Given the description of an element on the screen output the (x, y) to click on. 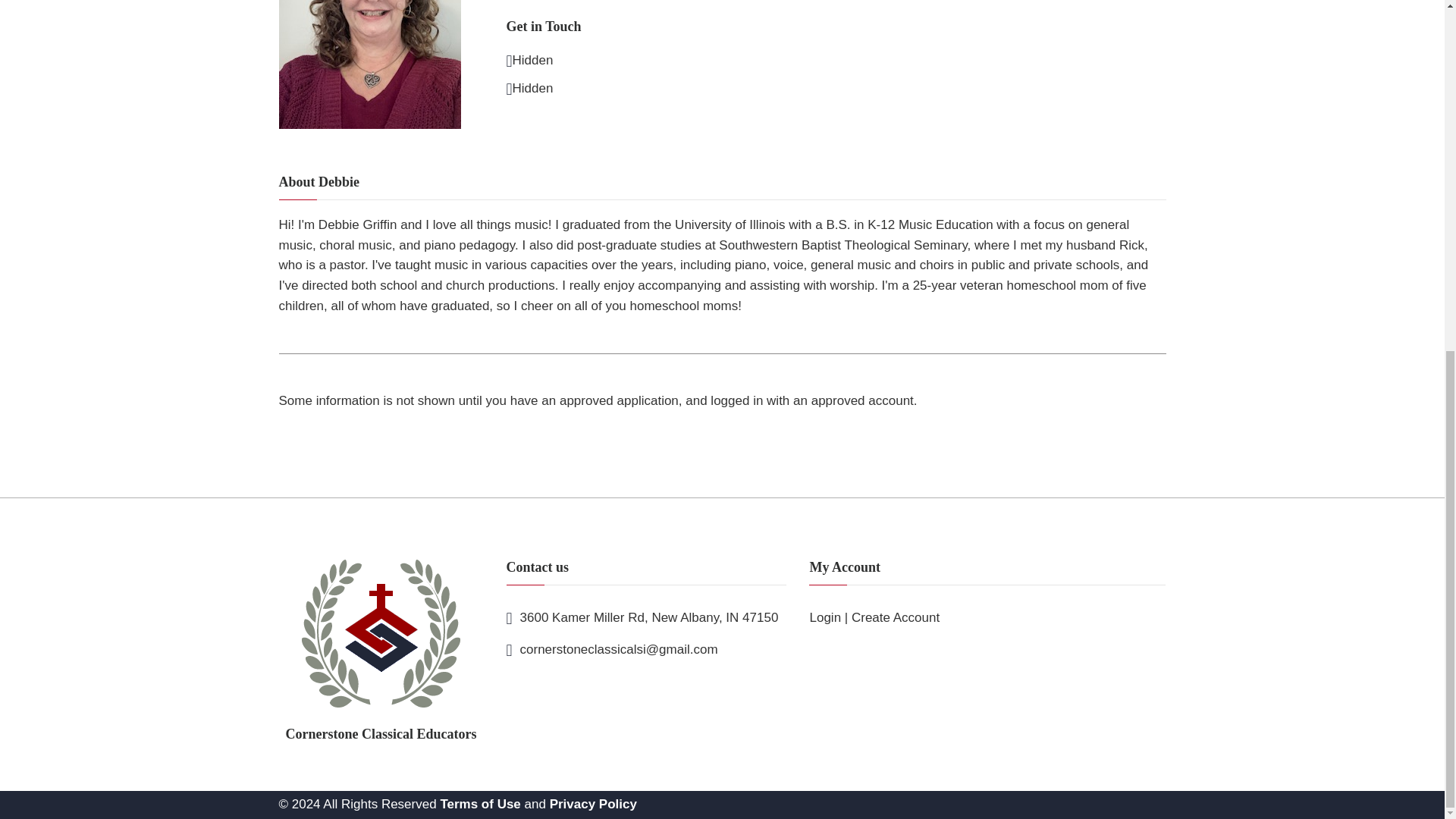
Terms of Use (479, 803)
Cornerstone Classical Educators (380, 650)
Debbie Griffin (370, 64)
Create Account (895, 617)
3600 Kamer Miller Rd, New Albany, IN 47150 (648, 617)
Privacy Policy (593, 803)
Login (825, 617)
